Given the description of an element on the screen output the (x, y) to click on. 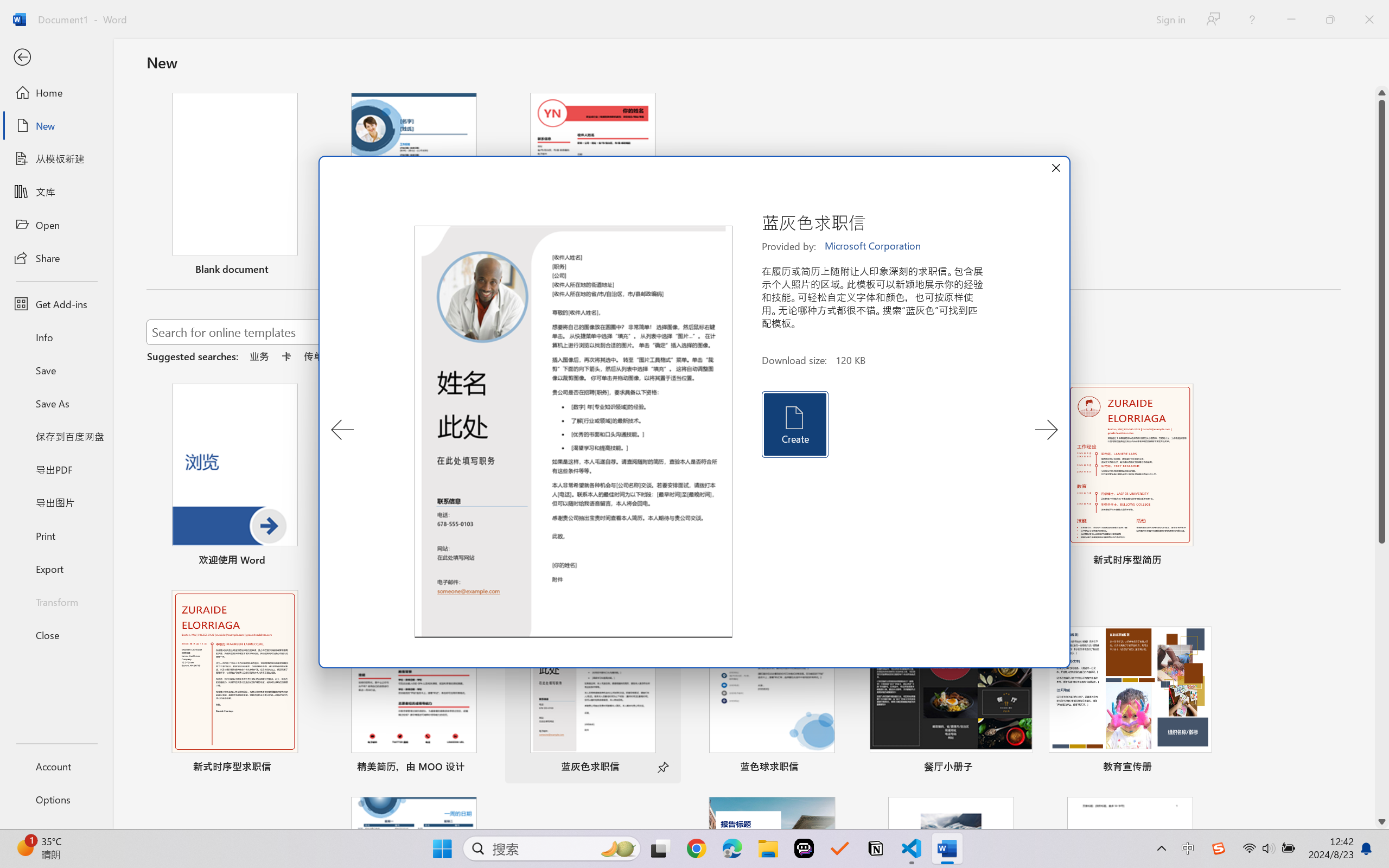
Print (56, 535)
Get Add-ins (56, 303)
Preview (573, 431)
